Given the description of an element on the screen output the (x, y) to click on. 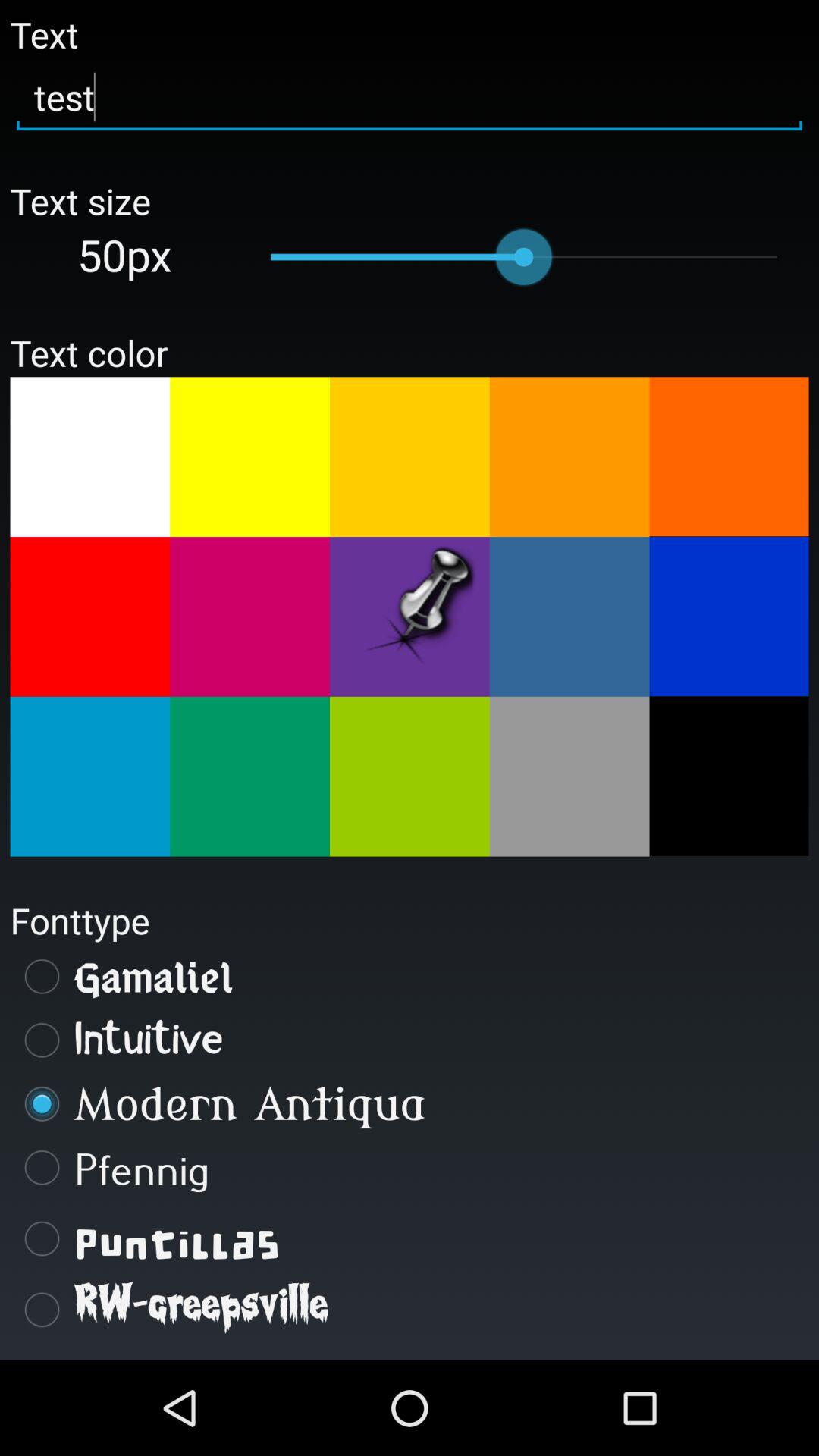
text color light orange (409, 456)
